Given the description of an element on the screen output the (x, y) to click on. 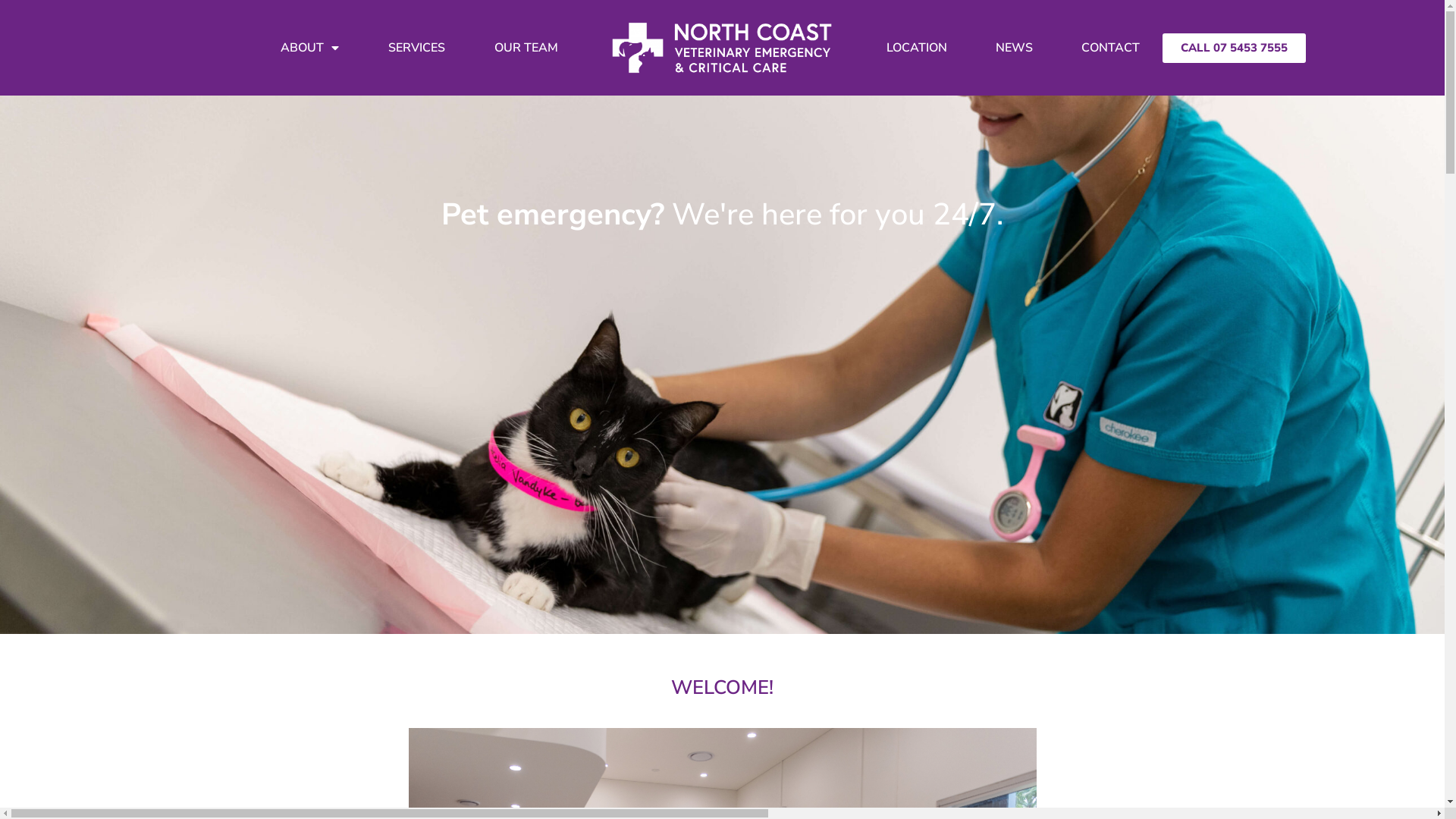
SERVICES Element type: text (416, 47)
CALL 07 5453 7555 Element type: text (1233, 47)
NEWS Element type: text (1013, 47)
OUR TEAM Element type: text (525, 47)
LOCATION Element type: text (916, 47)
CONTACT Element type: text (1110, 47)
ABOUT Element type: text (309, 47)
